Given the description of an element on the screen output the (x, y) to click on. 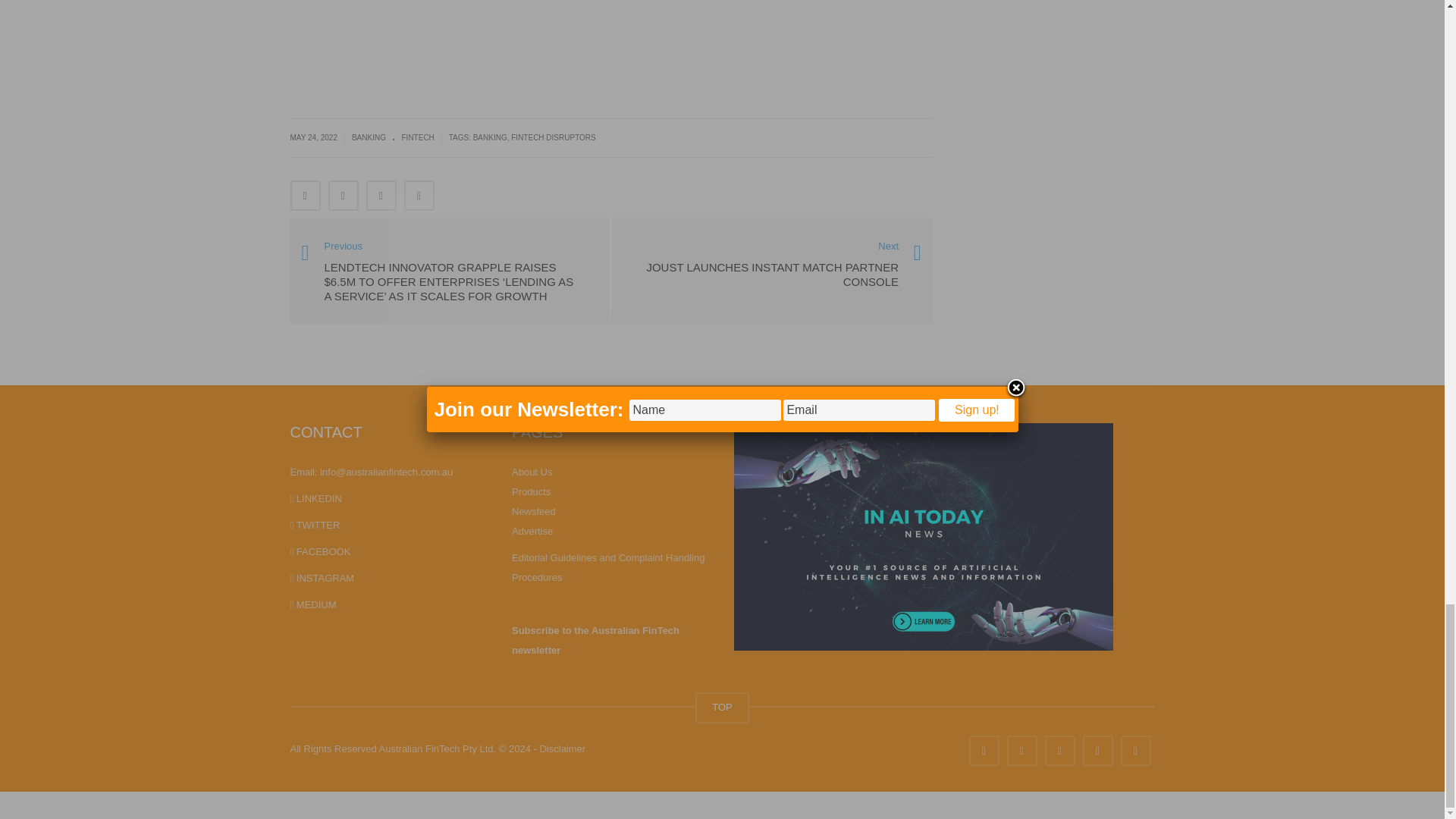
Share on LinkedIn (380, 195)
Email this (418, 195)
Joust launches Instant Match Partner Console (772, 265)
Share on Twitter (342, 195)
Share on Facebook (304, 195)
